Given the description of an element on the screen output the (x, y) to click on. 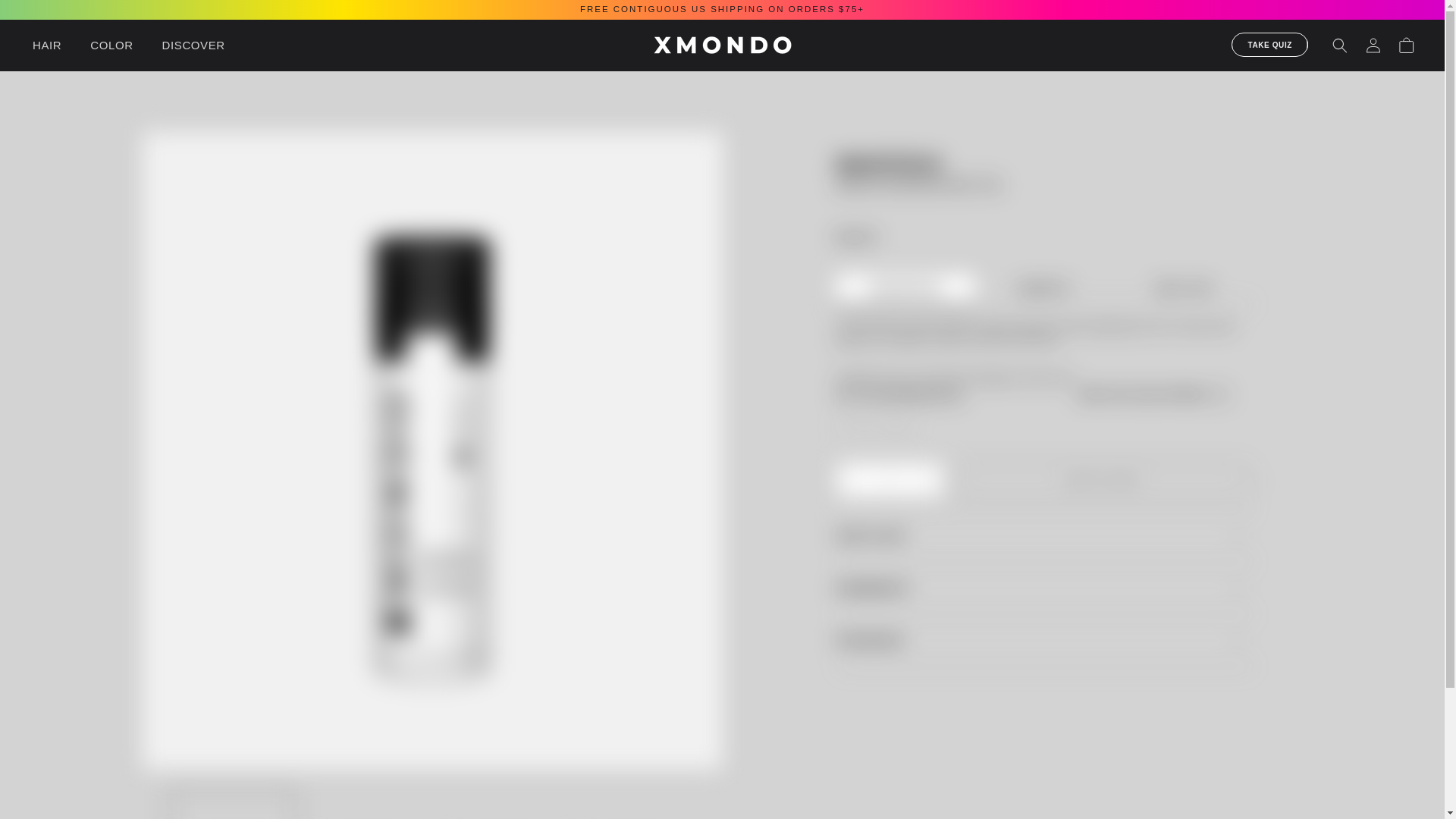
SKIP TO CONTENT (45, 17)
1 (889, 475)
